Given the description of an element on the screen output the (x, y) to click on. 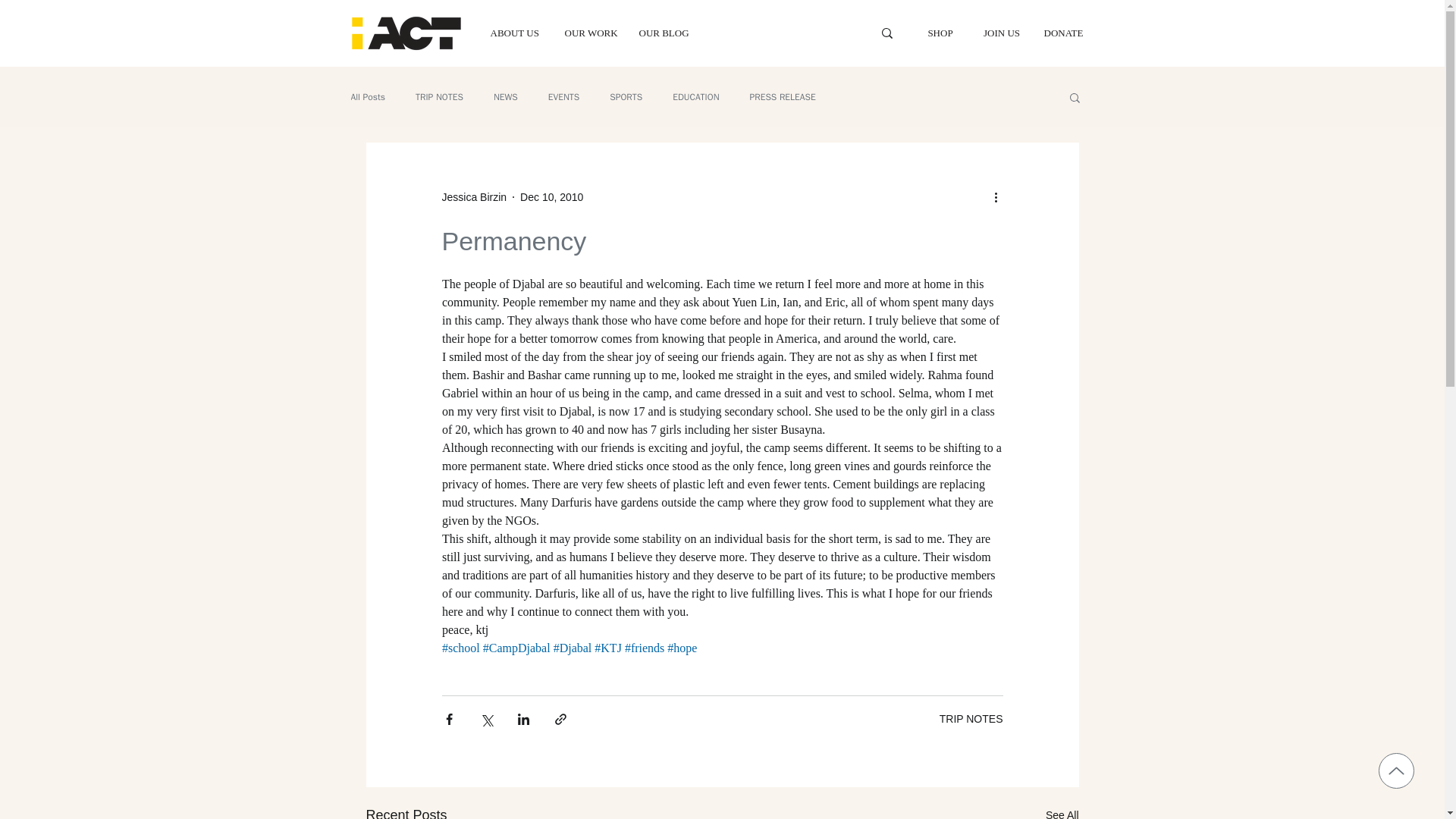
DONATE (1063, 32)
SHOP (940, 32)
TRIP NOTES (971, 718)
See All (1061, 811)
OUR WORK (590, 32)
OUR BLOG (664, 32)
SPORTS (626, 97)
EDUCATION (695, 97)
ABOUT US (516, 32)
NEWS (505, 97)
